Given the description of an element on the screen output the (x, y) to click on. 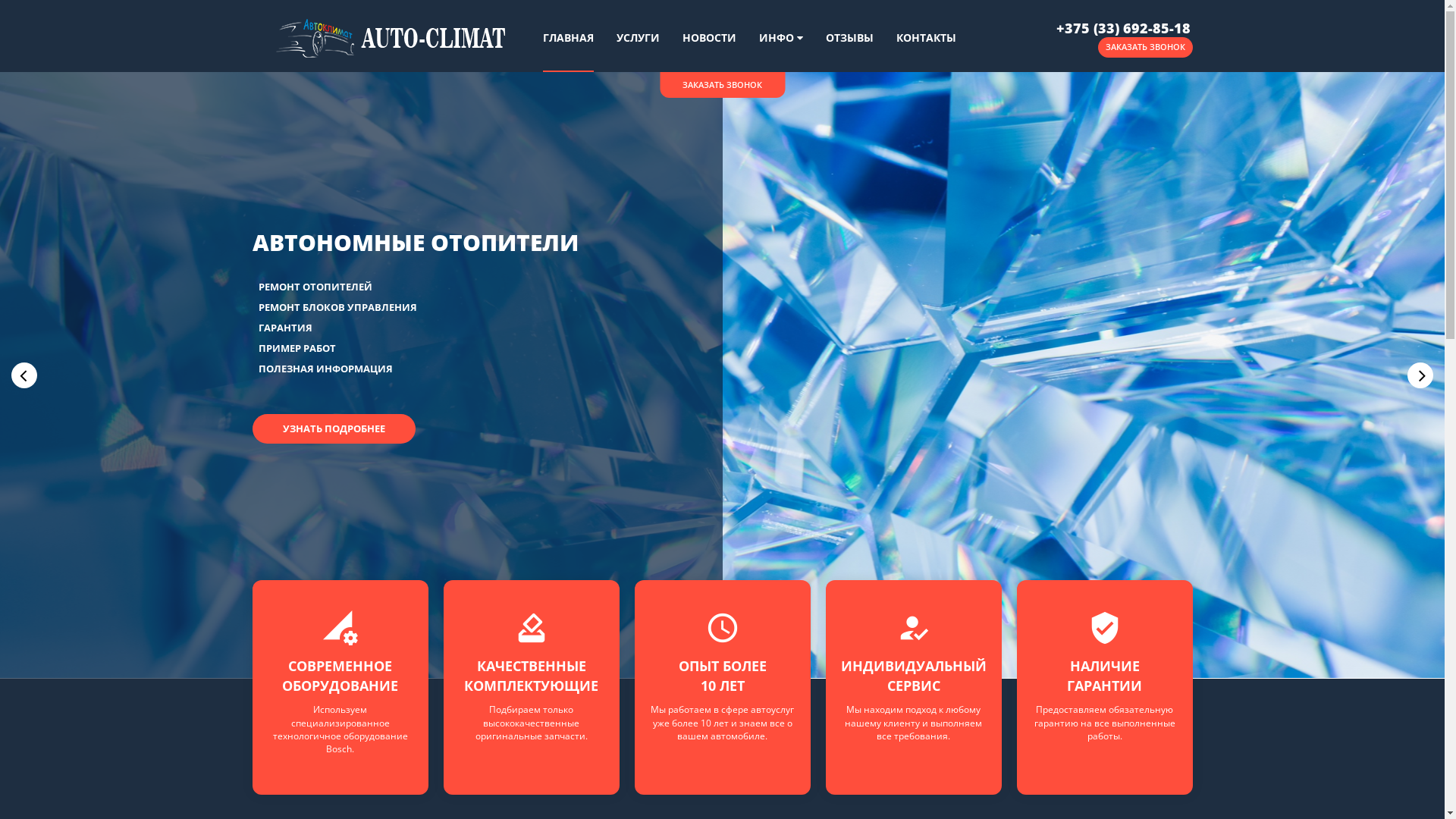
2 Element type: text (730, 653)
1 Element type: text (713, 653)
